Given the description of an element on the screen output the (x, y) to click on. 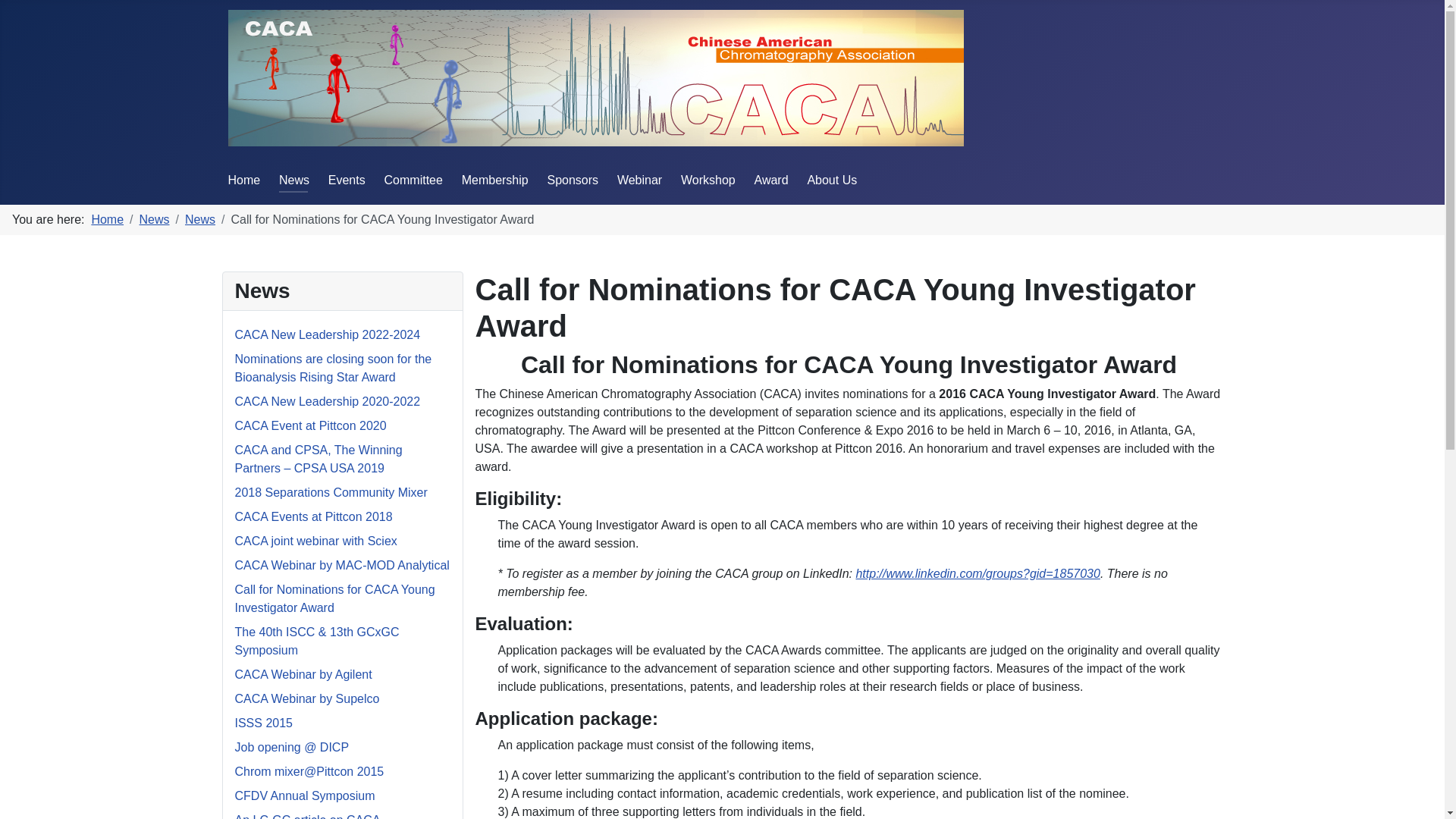
CACA Webinar by Agilent (303, 674)
CFDV Annual Symposium (304, 795)
Home (106, 219)
CACA Webinar by MAC-MOD Analytical (341, 564)
CACA Event at Pittcon 2020 (310, 425)
Home (243, 179)
Sponsors (572, 179)
News (199, 219)
Workshop (708, 179)
ISSS 2015 (264, 722)
News (293, 179)
Events (347, 179)
Award (771, 179)
Call for Nominations for CACA Young Investigator Award (334, 598)
CACA Events at Pittcon 2018 (313, 516)
